Given the description of an element on the screen output the (x, y) to click on. 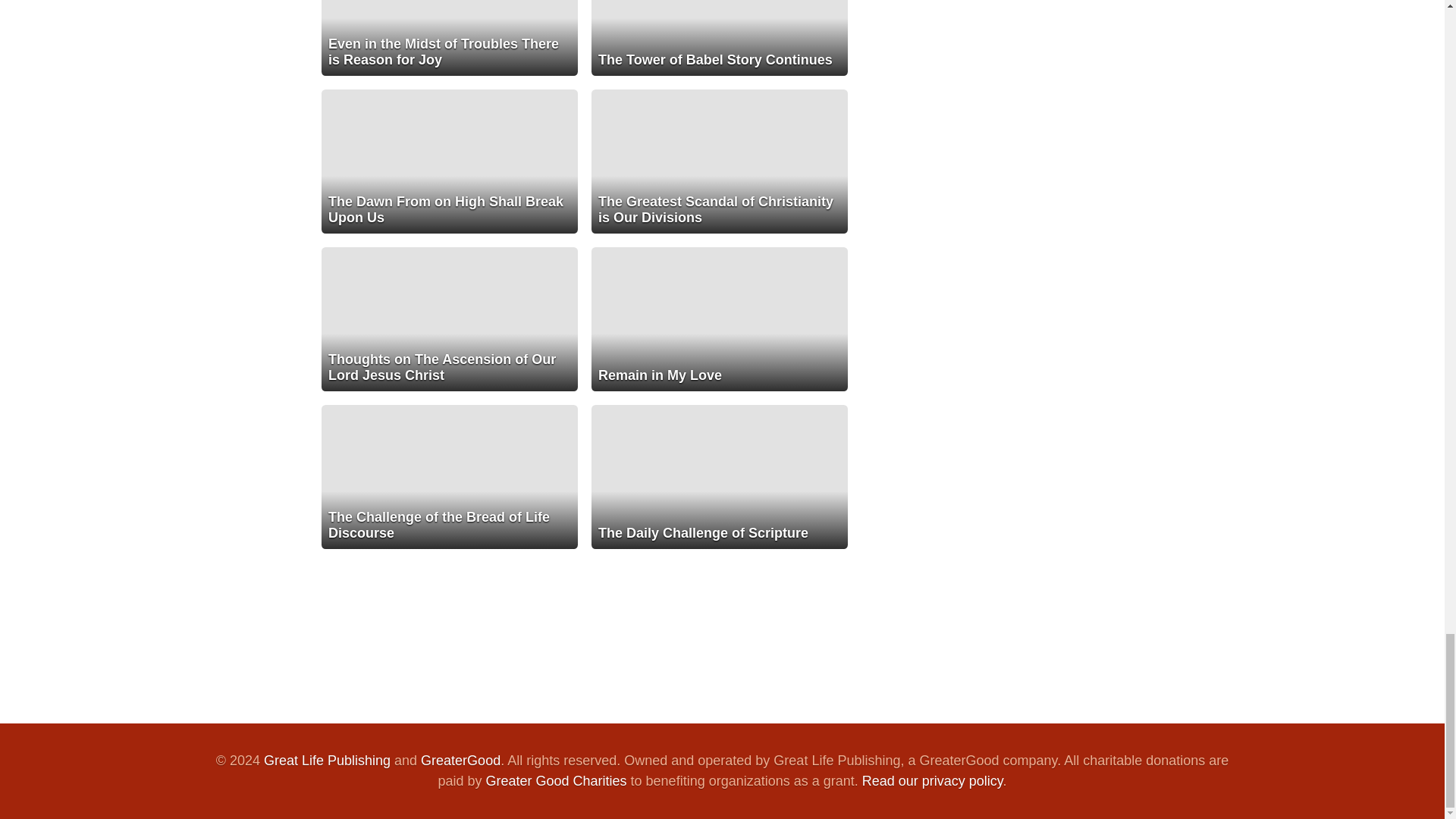
The Dawn From on High Shall Break Upon Us (449, 161)
Remain in My Love (719, 319)
The Tower of Babel Story Continues (719, 38)
Even in the Midst of Troubles There is Reason for Joy (449, 38)
The Challenge of the Bread of Life Discourse (449, 476)
GreaterGood (460, 760)
The Greatest Scandal of Christianity is Our Divisions (719, 161)
Great Life Publishing (326, 760)
Thoughts on The Ascension of Our Lord Jesus Christ (449, 319)
Greater Good Charities (555, 780)
The Daily Challenge of Scripture (719, 476)
Read our privacy policy (932, 780)
